Given the description of an element on the screen output the (x, y) to click on. 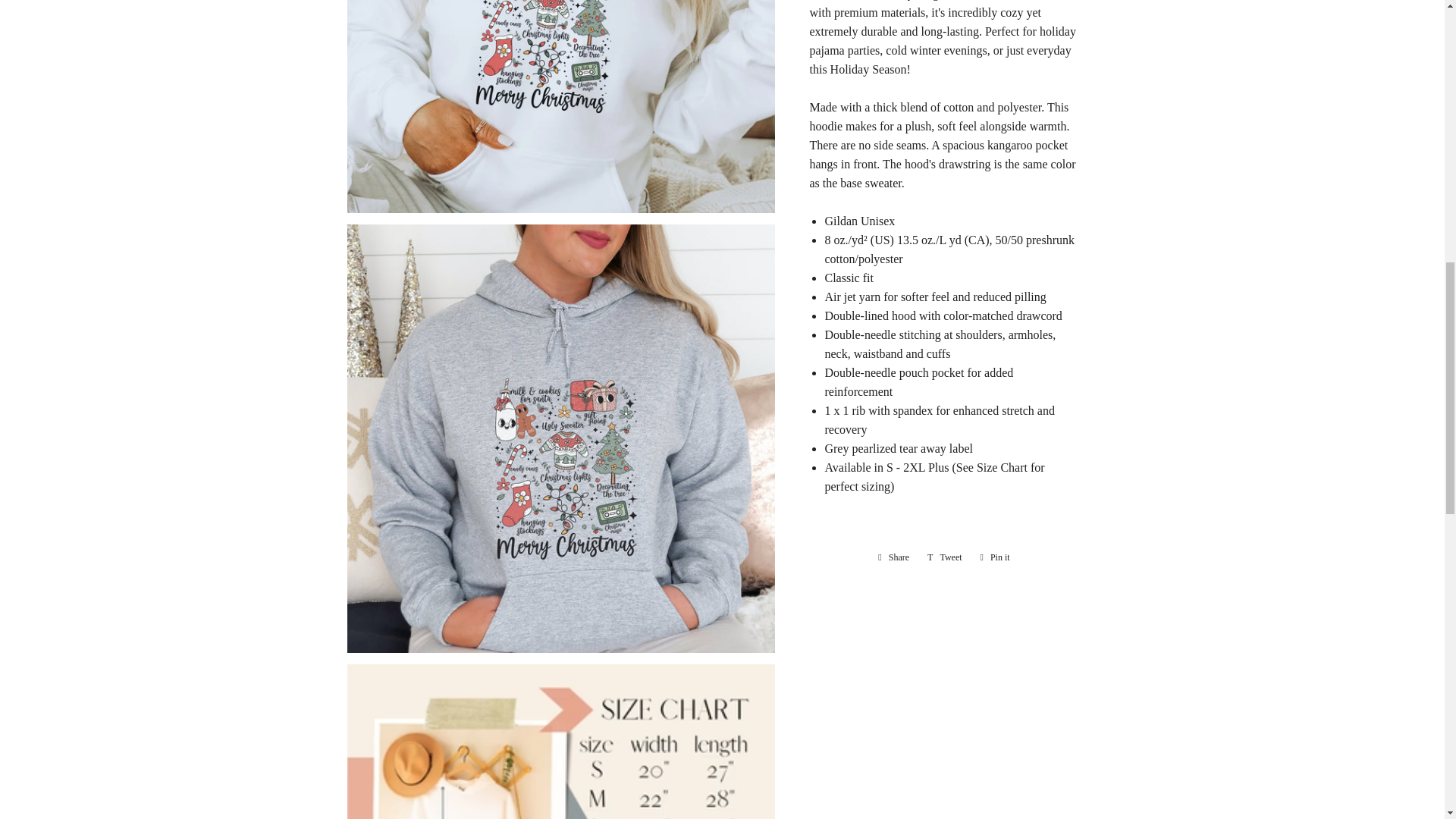
Share on Facebook (893, 556)
Pin on Pinterest (994, 556)
Tweet on Twitter (944, 556)
